Given the description of an element on the screen output the (x, y) to click on. 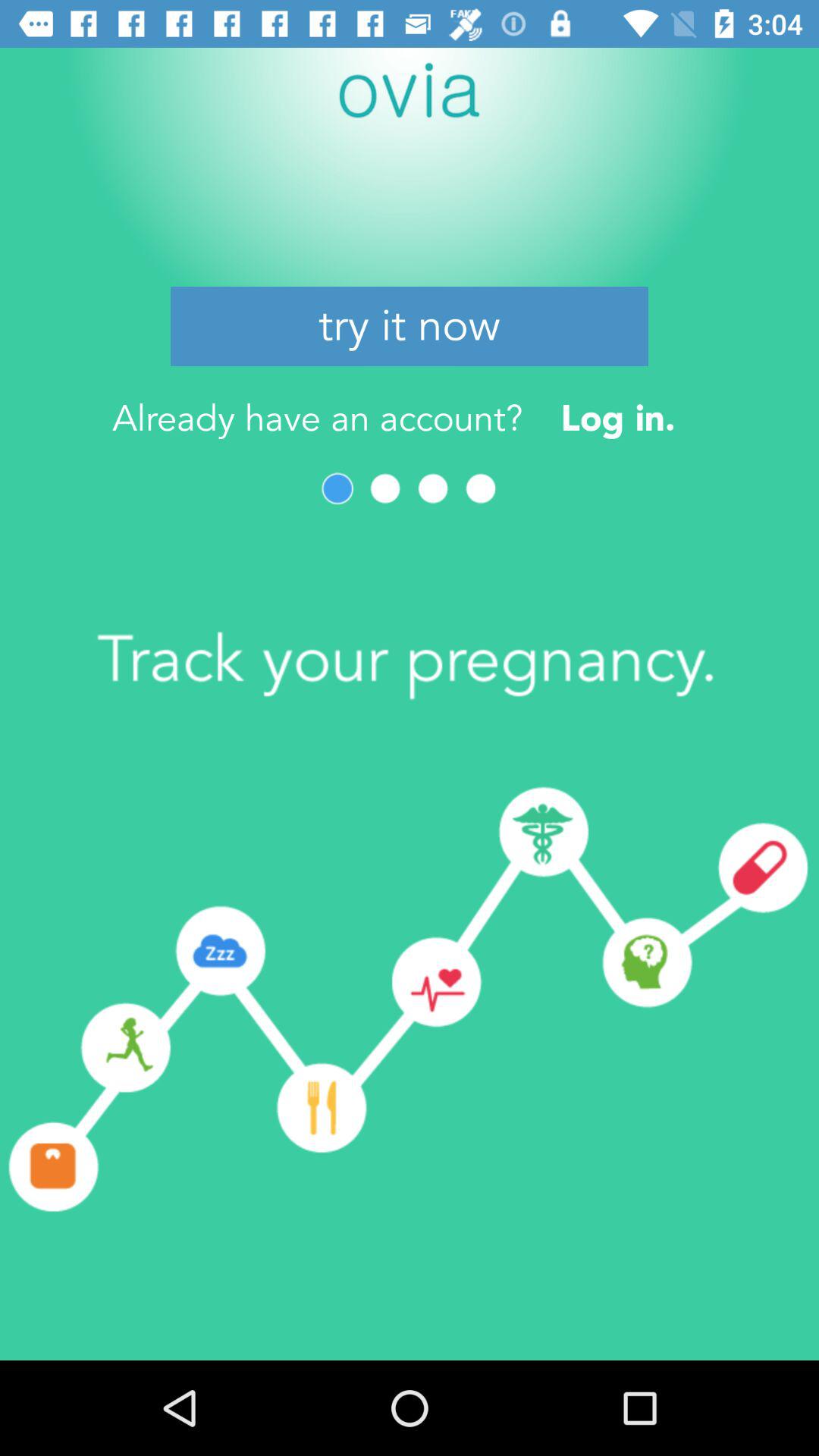
select the try it now item (409, 326)
